Given the description of an element on the screen output the (x, y) to click on. 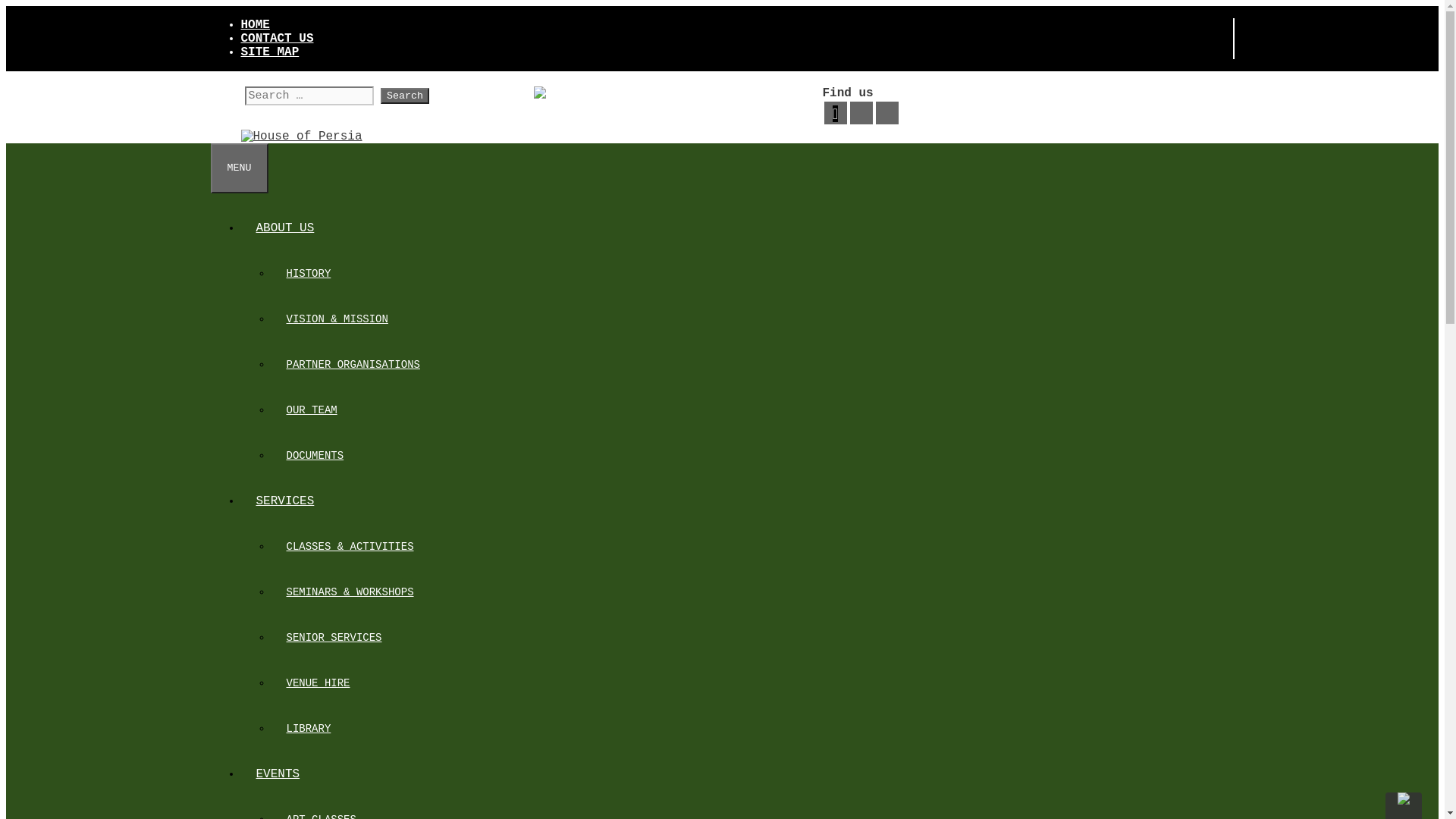
CLASSES & ACTIVITIES Element type: text (350, 546)
DOCUMENTS Element type: text (315, 455)
VISION & MISSION Element type: text (337, 319)
CONTACT US Element type: text (277, 38)
HISTORY Element type: text (308, 273)
Facebook Element type: hover (834, 112)
MENU Element type: text (239, 168)
SERVICES Element type: text (285, 501)
VENUE HIRE Element type: text (318, 683)
SITE MAP Element type: text (270, 52)
instagram Element type: hover (886, 112)
Skip to content Element type: text (5, 5)
PARTNER ORGANISATIONS Element type: text (353, 364)
LIBRARY Element type: text (308, 728)
Facebook Element type: hover (834, 113)
SEMINARS & WORKSHOPS Element type: text (350, 592)
OUR TEAM Element type: text (311, 410)
SENIOR SERVICES Element type: text (334, 637)
Search for: Element type: hover (308, 95)
House of Persia Element type: hover (301, 136)
HOME Element type: text (255, 24)
ABOUT US Element type: text (285, 228)
EVENTS Element type: text (278, 774)
youtube Element type: hover (860, 112)
Search Element type: text (404, 95)
